Given the description of an element on the screen output the (x, y) to click on. 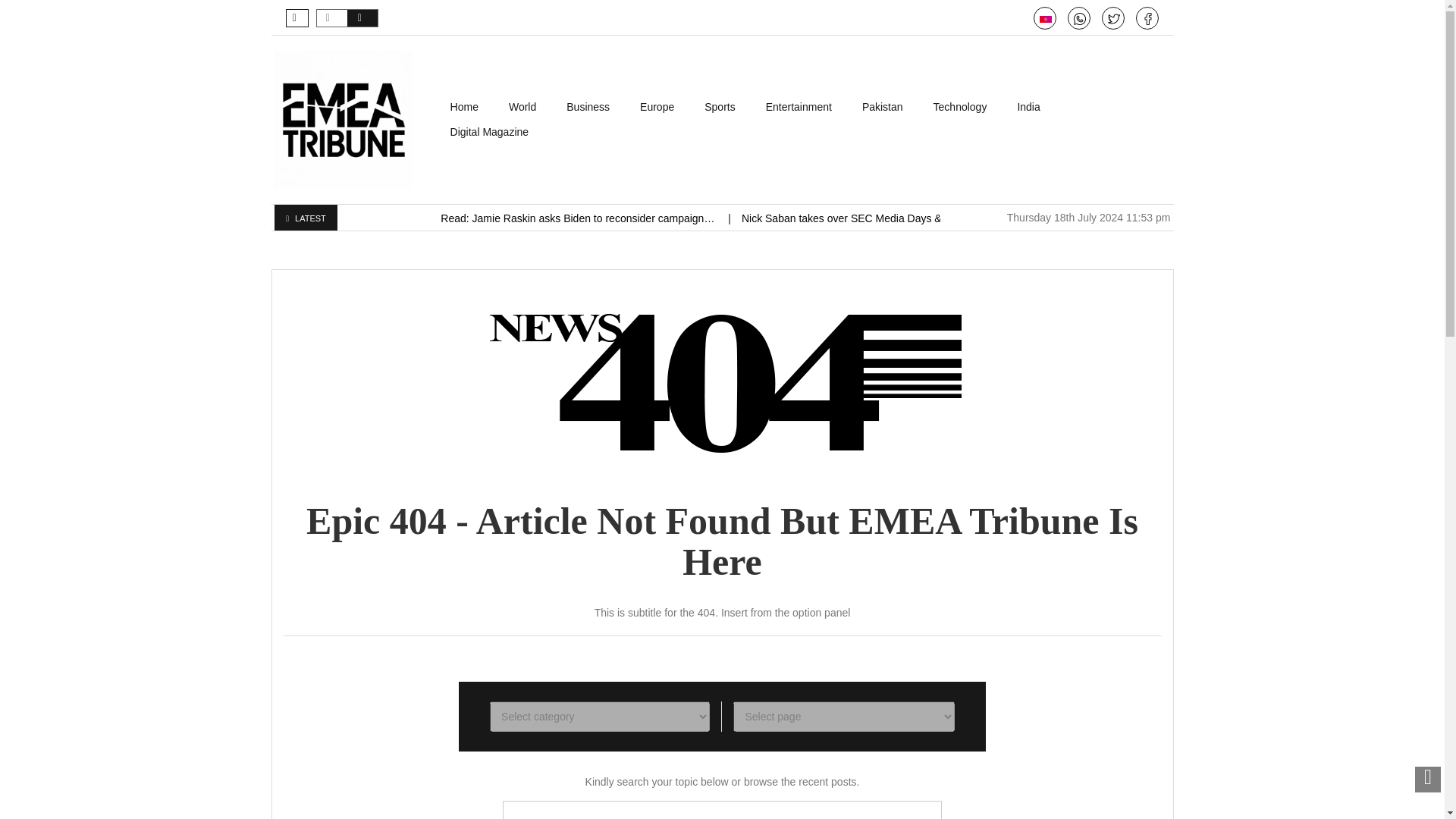
Business (587, 107)
Technology (960, 107)
Digital Magazine (489, 131)
Pakistan (882, 107)
Facebook (1147, 19)
Europe (656, 107)
World (522, 107)
Call Us (1080, 19)
Sports (718, 107)
Entertainment (799, 107)
Skip to content (470, 102)
India (1027, 107)
Skip to content (470, 102)
Twitter (1113, 19)
Home (464, 107)
